Given the description of an element on the screen output the (x, y) to click on. 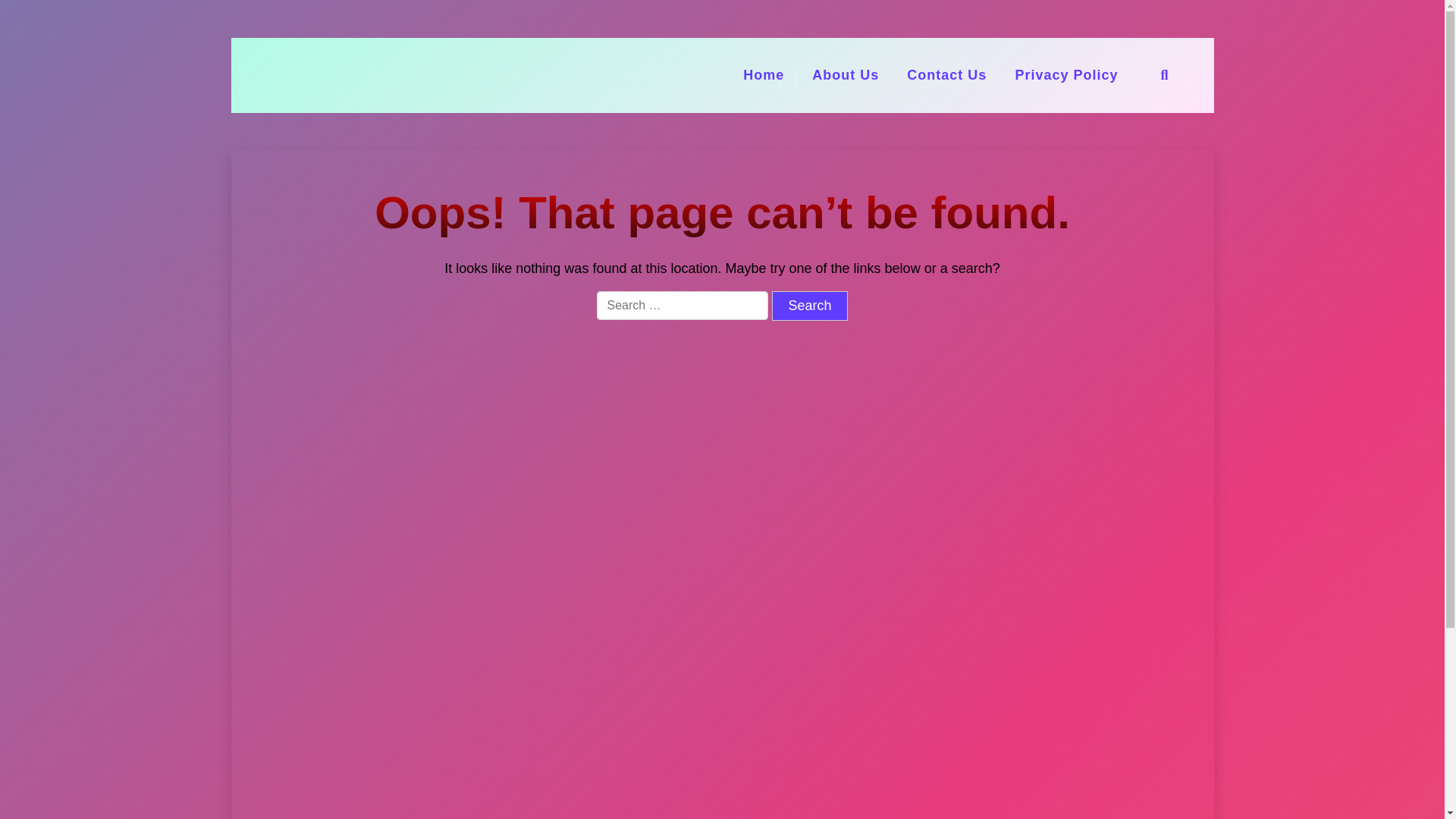
Privacy Policy (1066, 75)
Search (809, 306)
Contact Us (946, 75)
Search (809, 306)
Home (763, 75)
Search (1026, 409)
Search (809, 306)
About Us (845, 75)
